Given the description of an element on the screen output the (x, y) to click on. 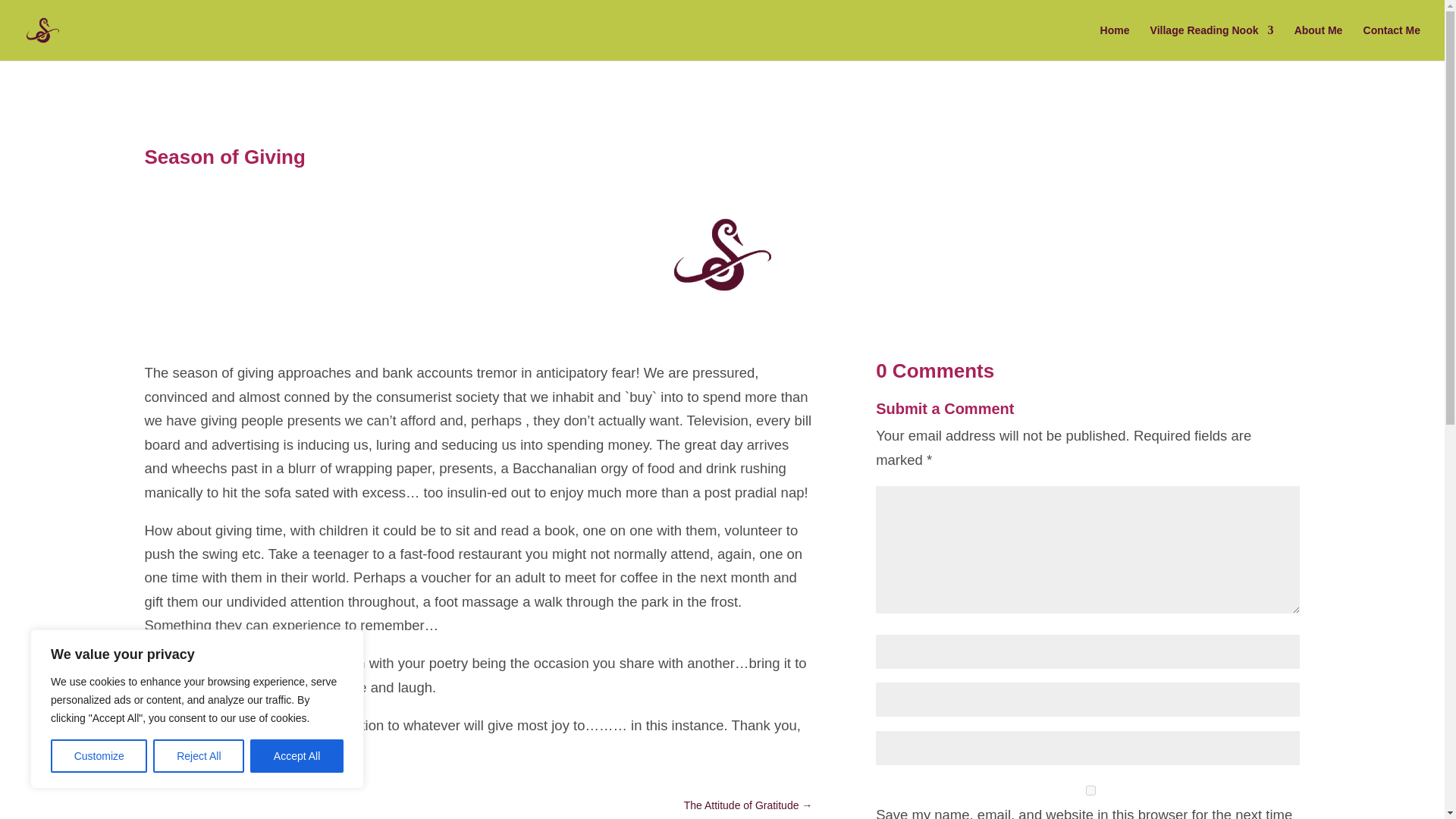
Contact Me (1391, 42)
Customize (98, 756)
Reject All (198, 756)
yes (1091, 790)
my-logo (721, 254)
Accept All (296, 756)
Village Reading Nook (1212, 42)
About Me (1318, 42)
